Given the description of an element on the screen output the (x, y) to click on. 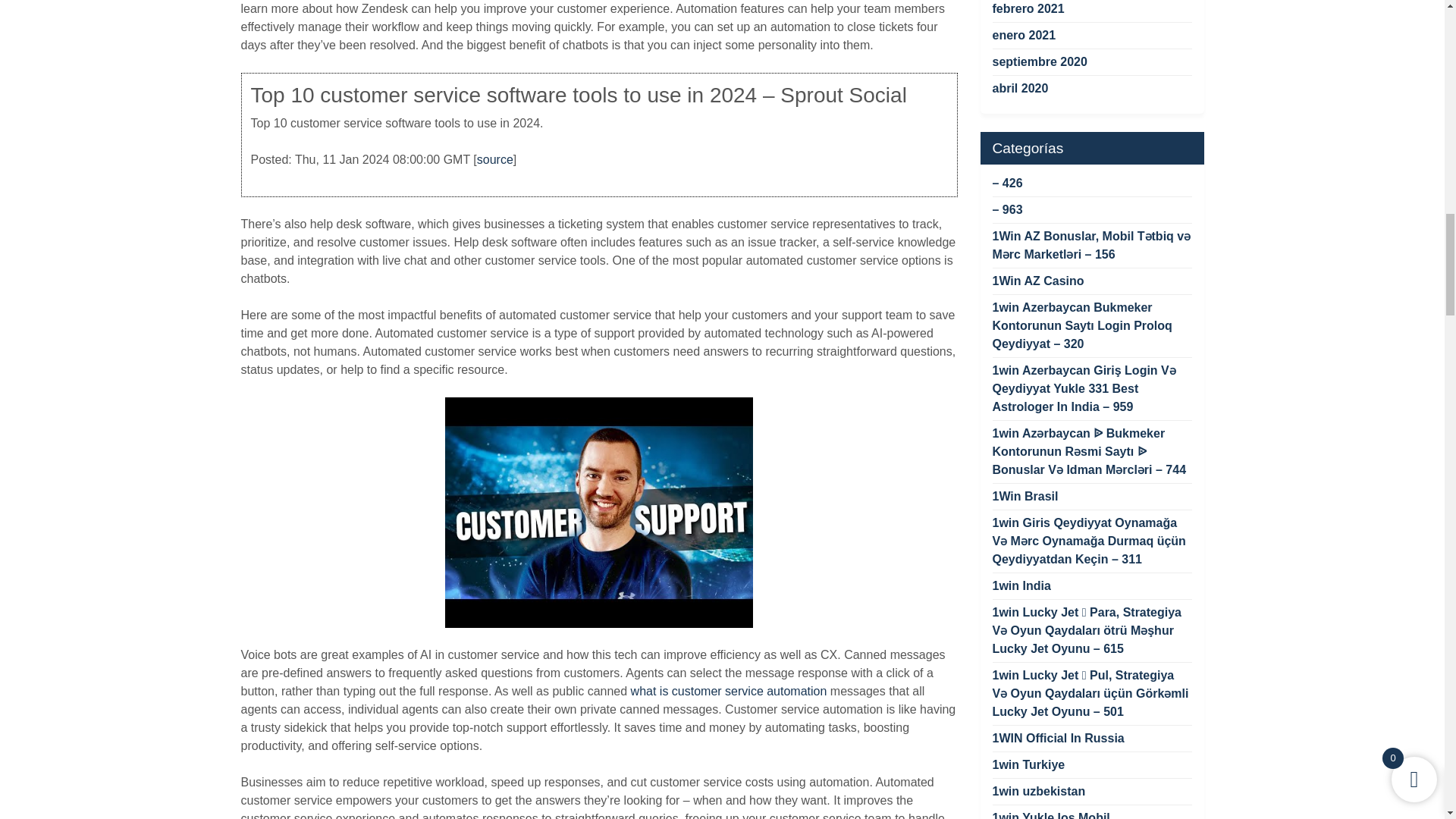
source (495, 159)
what is customer service automation (728, 690)
